Given the description of an element on the screen output the (x, y) to click on. 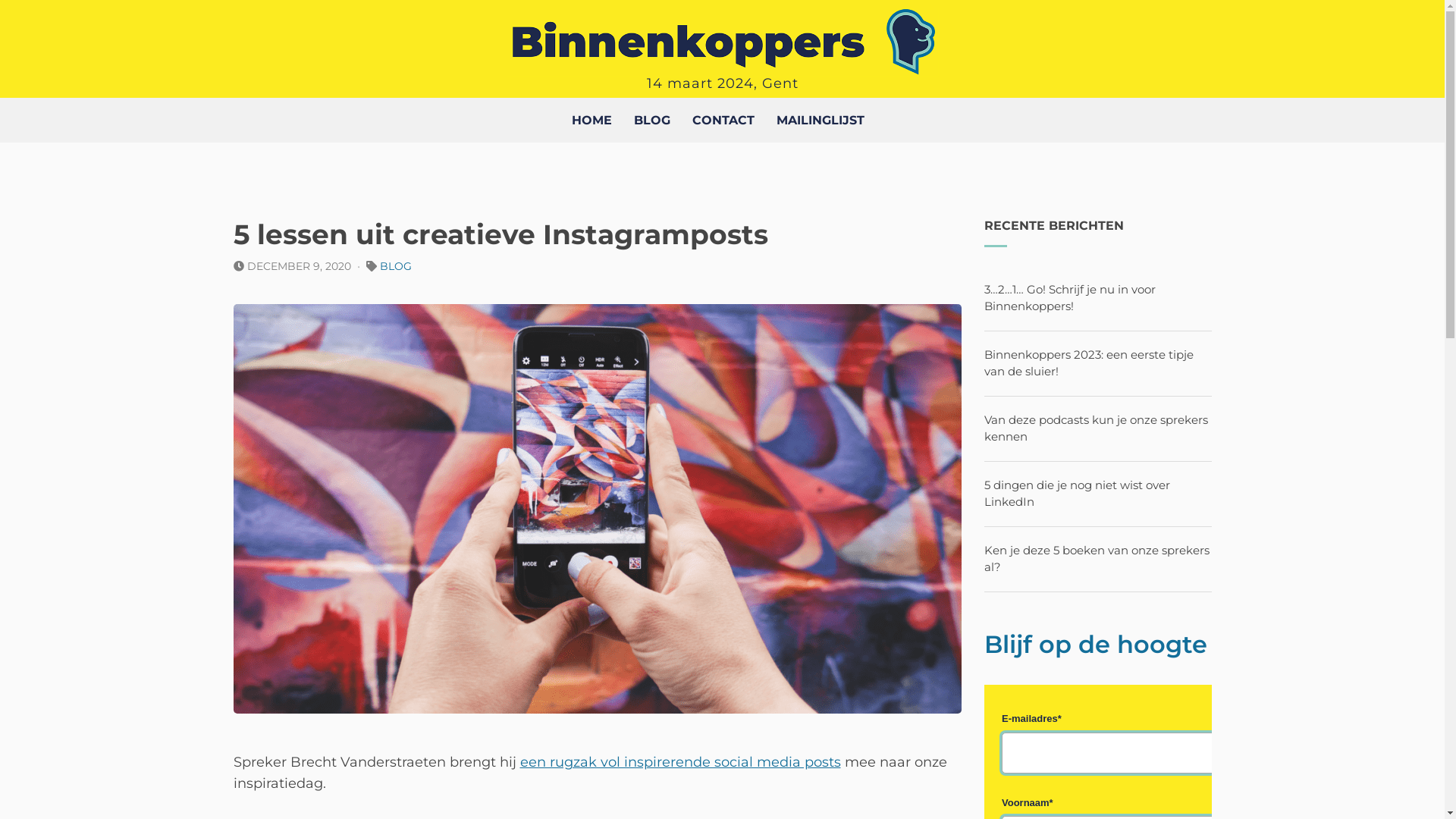
Van deze podcasts kun je onze sprekers kennen Element type: text (1096, 428)
een rugzak vol inspirerende social media posts Element type: text (680, 761)
Ken je deze 5 boeken van onze sprekers al? Element type: text (1096, 558)
BLOG Element type: text (651, 119)
Binnenkoppers 2023: een eerste tipje van de sluier! Element type: text (1088, 363)
CONTACT Element type: text (722, 119)
HOME Element type: text (591, 119)
5 dingen die je nog niet wist over LinkedIn Element type: text (1077, 493)
BLOG Element type: text (395, 266)
MAILINGLIJST Element type: text (820, 119)
